Given the description of an element on the screen output the (x, y) to click on. 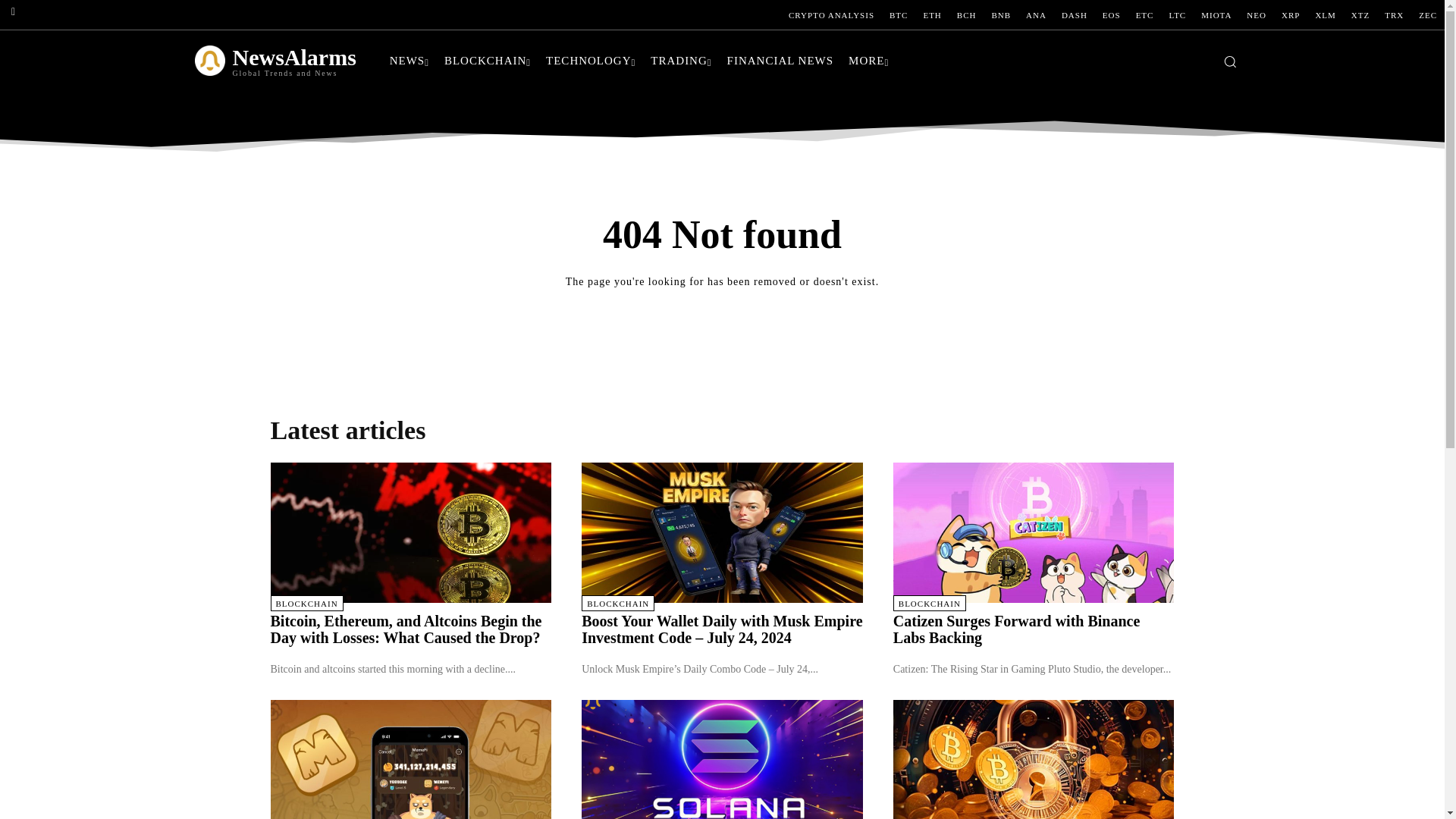
EOS (1111, 15)
MIOTA (1216, 15)
XRP (1290, 15)
BCH (966, 15)
ETC (1144, 15)
Facebook (13, 12)
NEO (1256, 15)
ETH (932, 15)
XLM (1324, 15)
BTC (898, 15)
CRYPTO ANALYSIS (831, 15)
ANA (1035, 15)
LTC (1176, 15)
BNB (1000, 15)
DASH (1074, 15)
